Given the description of an element on the screen output the (x, y) to click on. 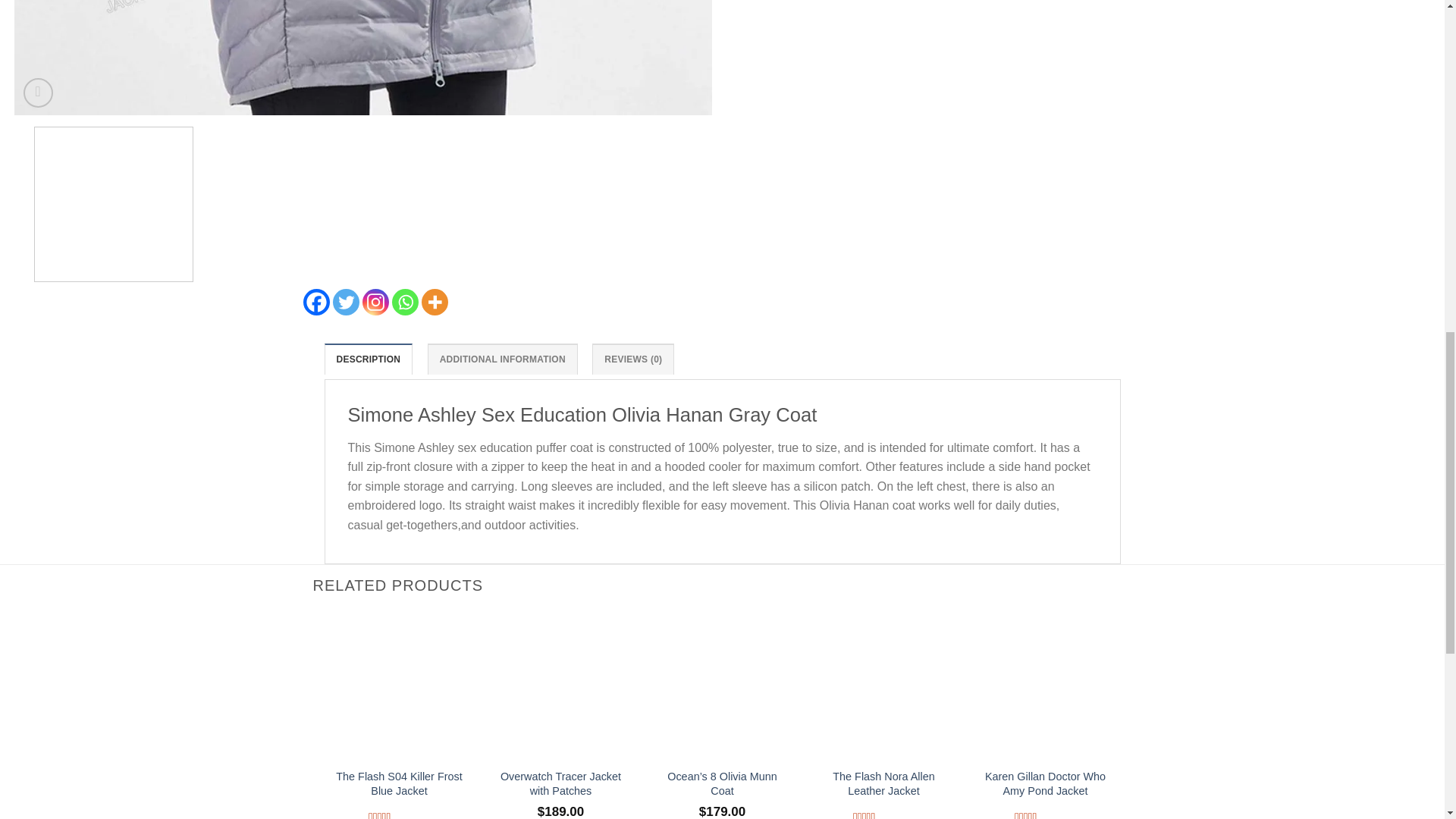
simone-ashley-sex-education-puffer-coat (1060, 57)
Zoom (37, 92)
olivia-hanan-coat (362, 57)
